Given the description of an element on the screen output the (x, y) to click on. 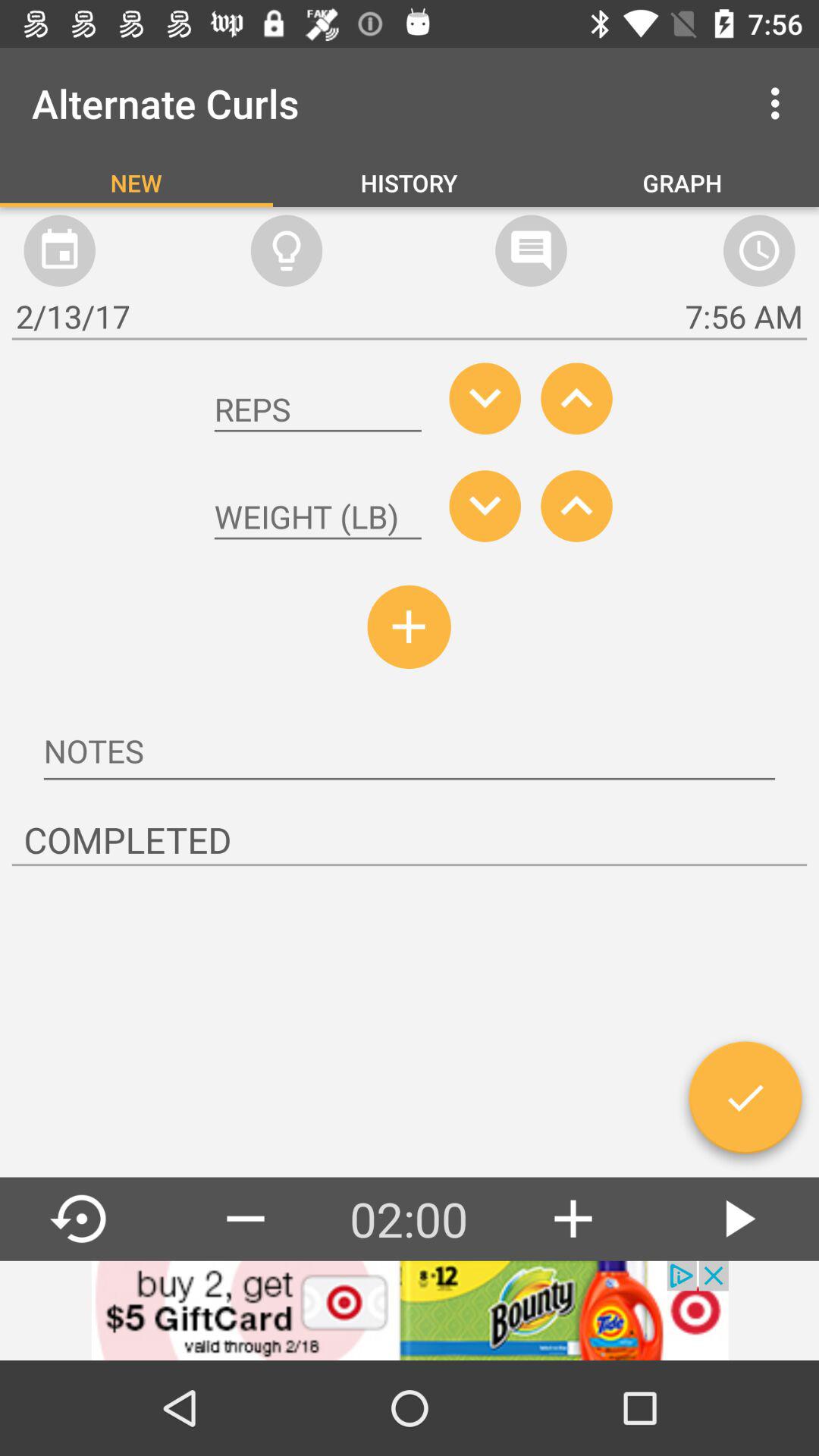
advertisement display (409, 1310)
